Given the description of an element on the screen output the (x, y) to click on. 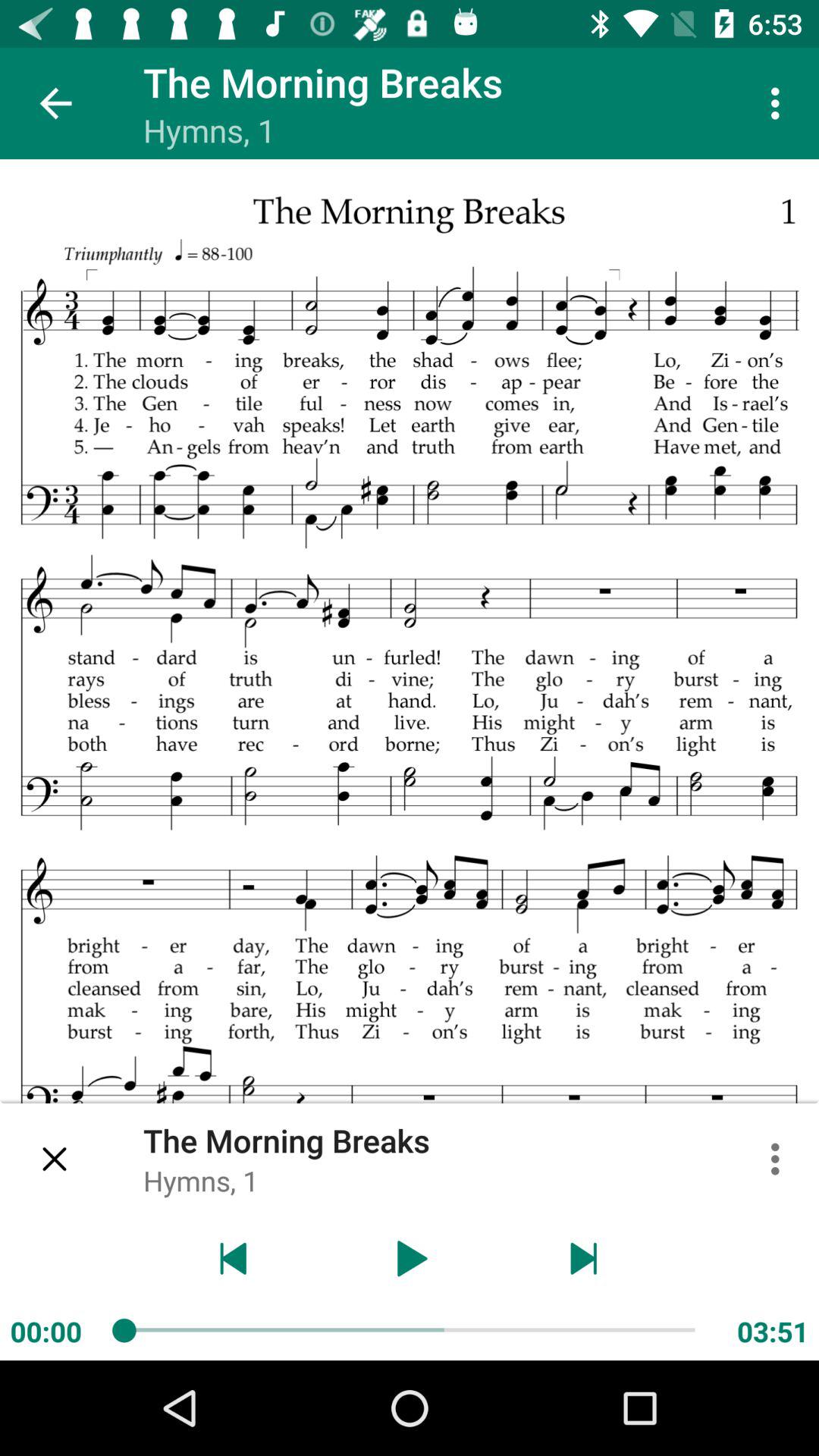
exit this song (55, 1158)
